Given the description of an element on the screen output the (x, y) to click on. 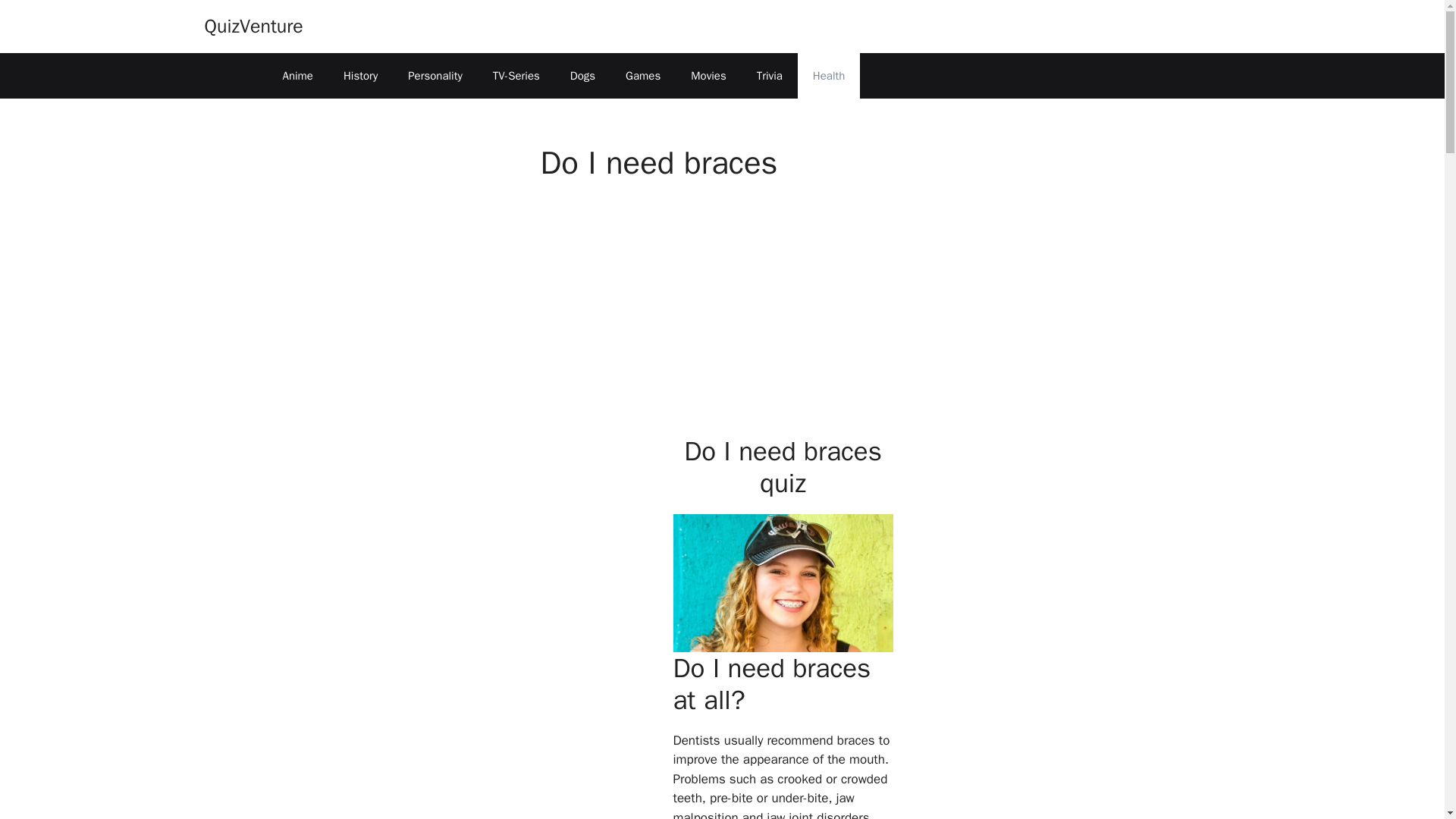
History (361, 75)
QuizVenture (253, 25)
Personality (435, 75)
Games (642, 75)
TV-Series (515, 75)
Anime (296, 75)
Dogs (582, 75)
Advertisement (769, 325)
Movies (708, 75)
Trivia (769, 75)
